Given the description of an element on the screen output the (x, y) to click on. 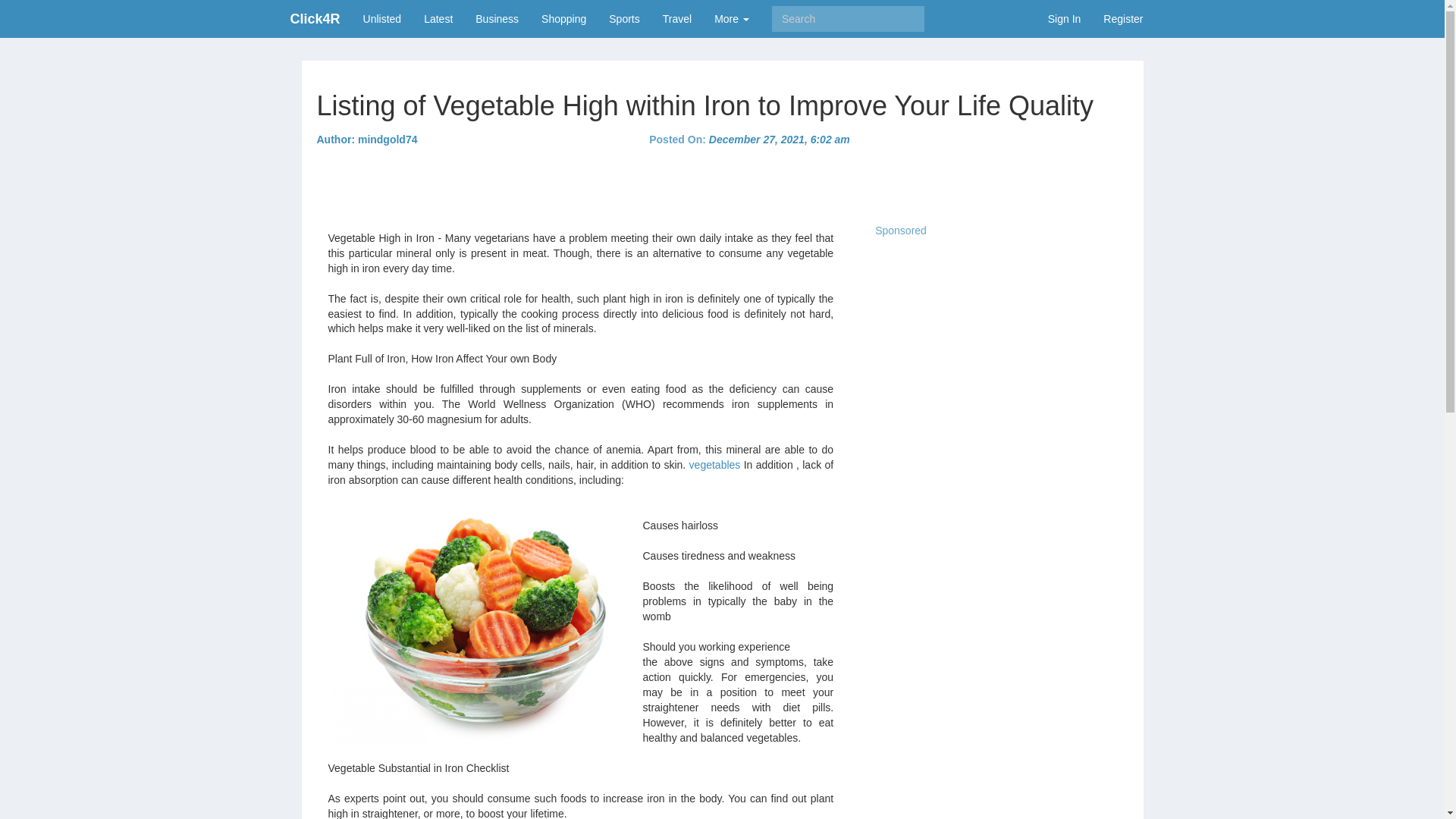
Business (496, 18)
Business (496, 18)
Sports (623, 18)
Sign In (1064, 18)
Shopping (562, 18)
Click4r Solutions Pvt. Ltd. (315, 18)
Shopping (562, 18)
Sports (623, 18)
More (731, 18)
Unlisted (382, 18)
Register (1123, 18)
Click4R (315, 18)
More (731, 18)
Latest (438, 18)
Unlisted (382, 18)
